Given the description of an element on the screen output the (x, y) to click on. 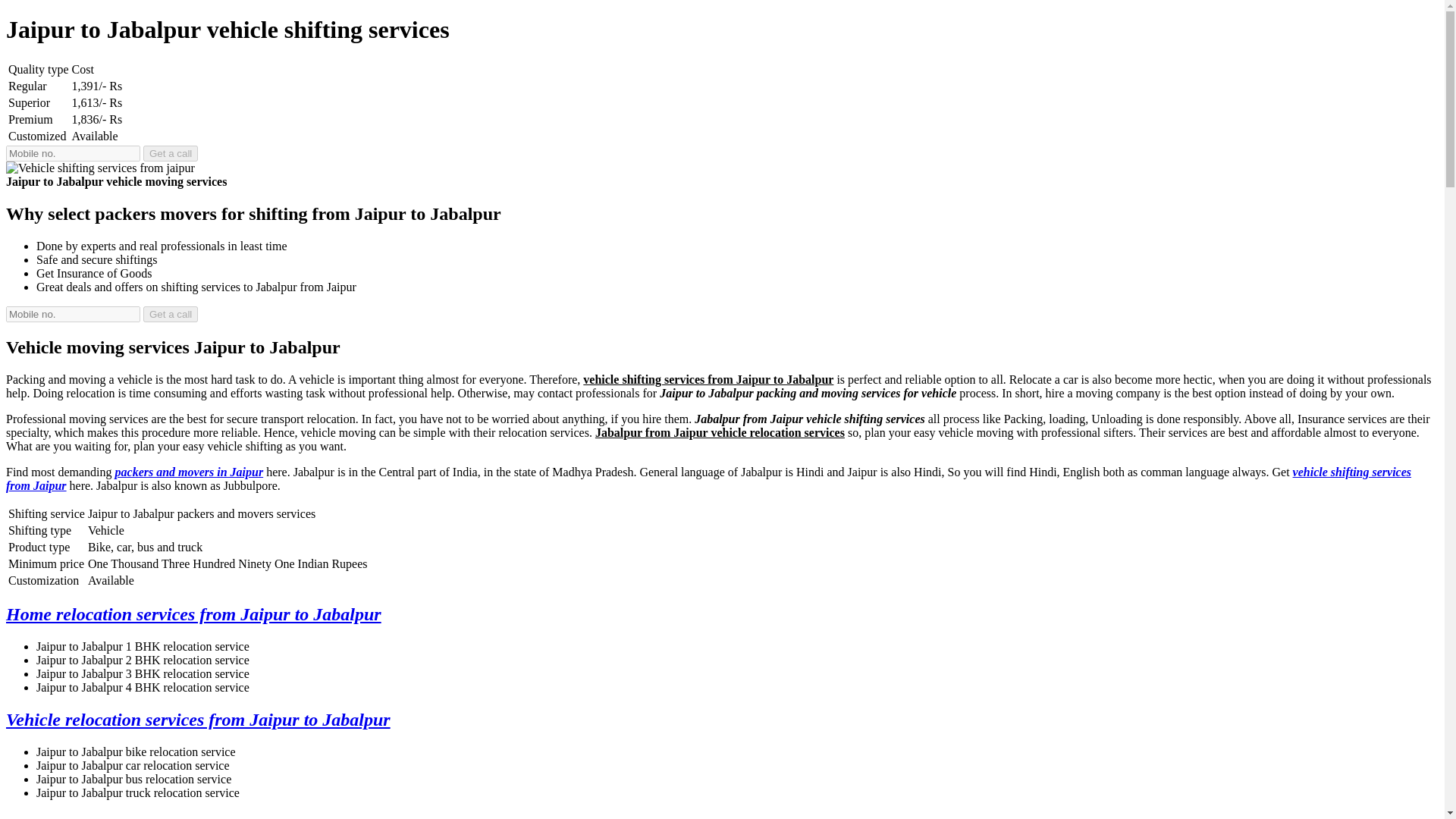
Get a call (170, 153)
Enter your Mo. no. only digits (72, 314)
Get a call (170, 153)
Home relocation services from Jaipur to Jabalpur (193, 614)
Get a call (170, 314)
Get a call (170, 314)
Vehicle relocation services from Jaipur to Jabalpur (197, 719)
Enter your Mo. no. only digits (72, 153)
packers and movers in Jaipur (189, 472)
vehicle shifting services from Jaipur (707, 479)
